Given the description of an element on the screen output the (x, y) to click on. 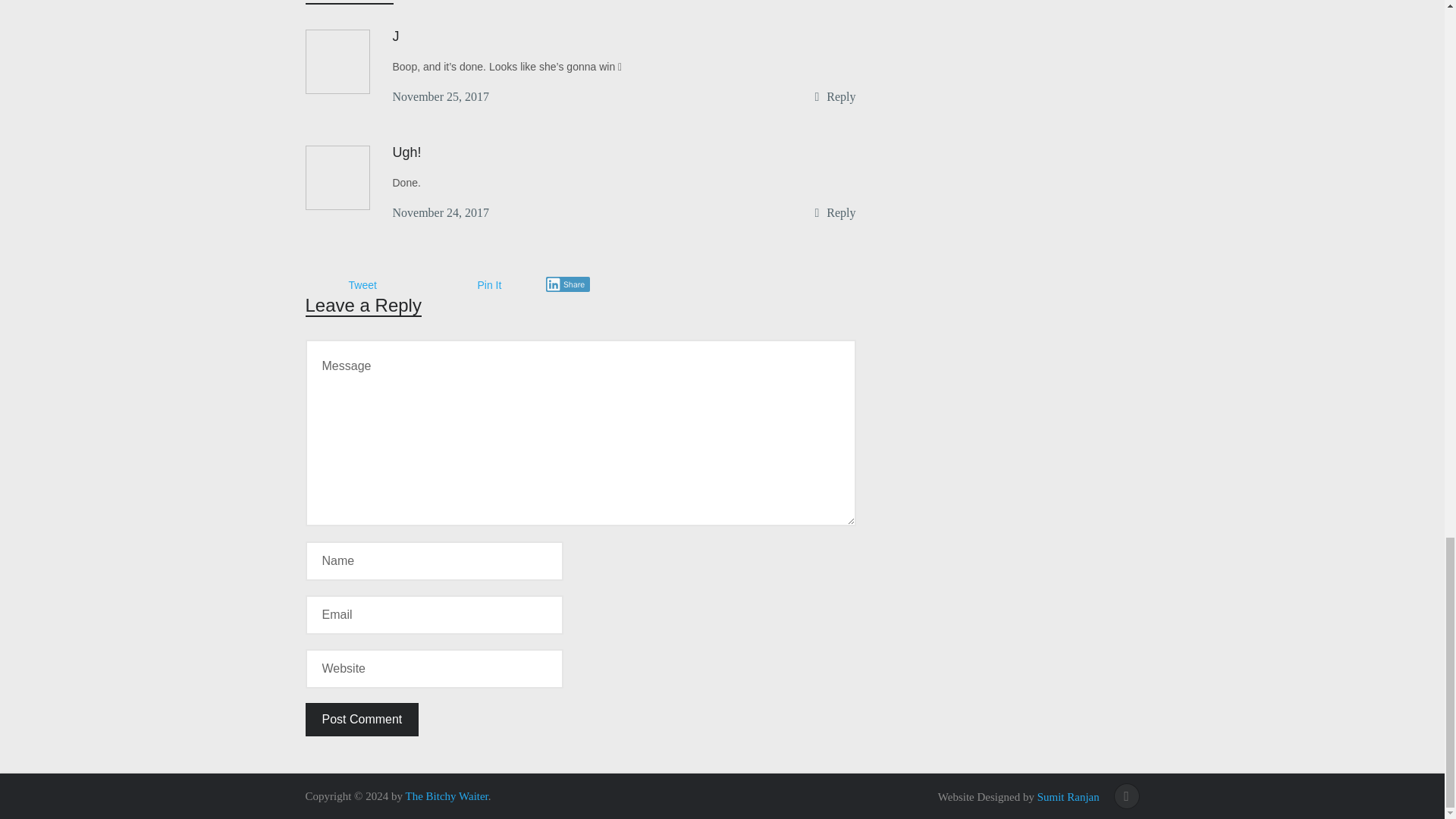
Post Comment (361, 719)
Post Comment (361, 719)
Reply (841, 96)
Reply (841, 212)
